Given the description of an element on the screen output the (x, y) to click on. 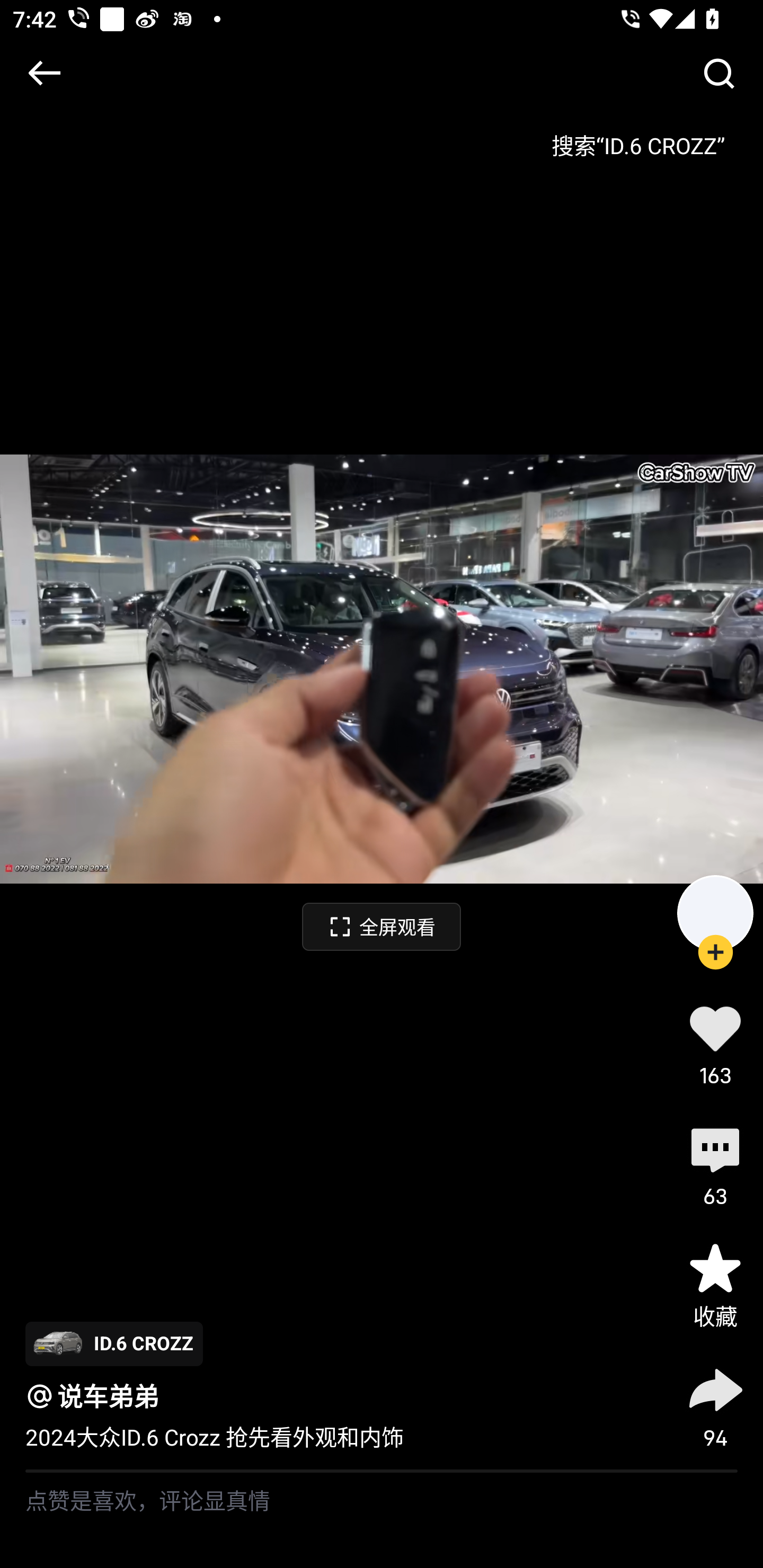
 (44, 72)
 (718, 72)
搜索“ID.6 CROZZ” (637, 139)
 全屏观看 (381, 926)
63 (715, 1164)
收藏 (715, 1284)
ID.6 CROZZ (113, 1343)
94 (715, 1405)
说车弟弟 (107, 1396)
2024大众ID.6 Crozz 抢先看外观和内饰 (214, 1437)
点赞是喜欢，评论显真情 (381, 1520)
